Given the description of an element on the screen output the (x, y) to click on. 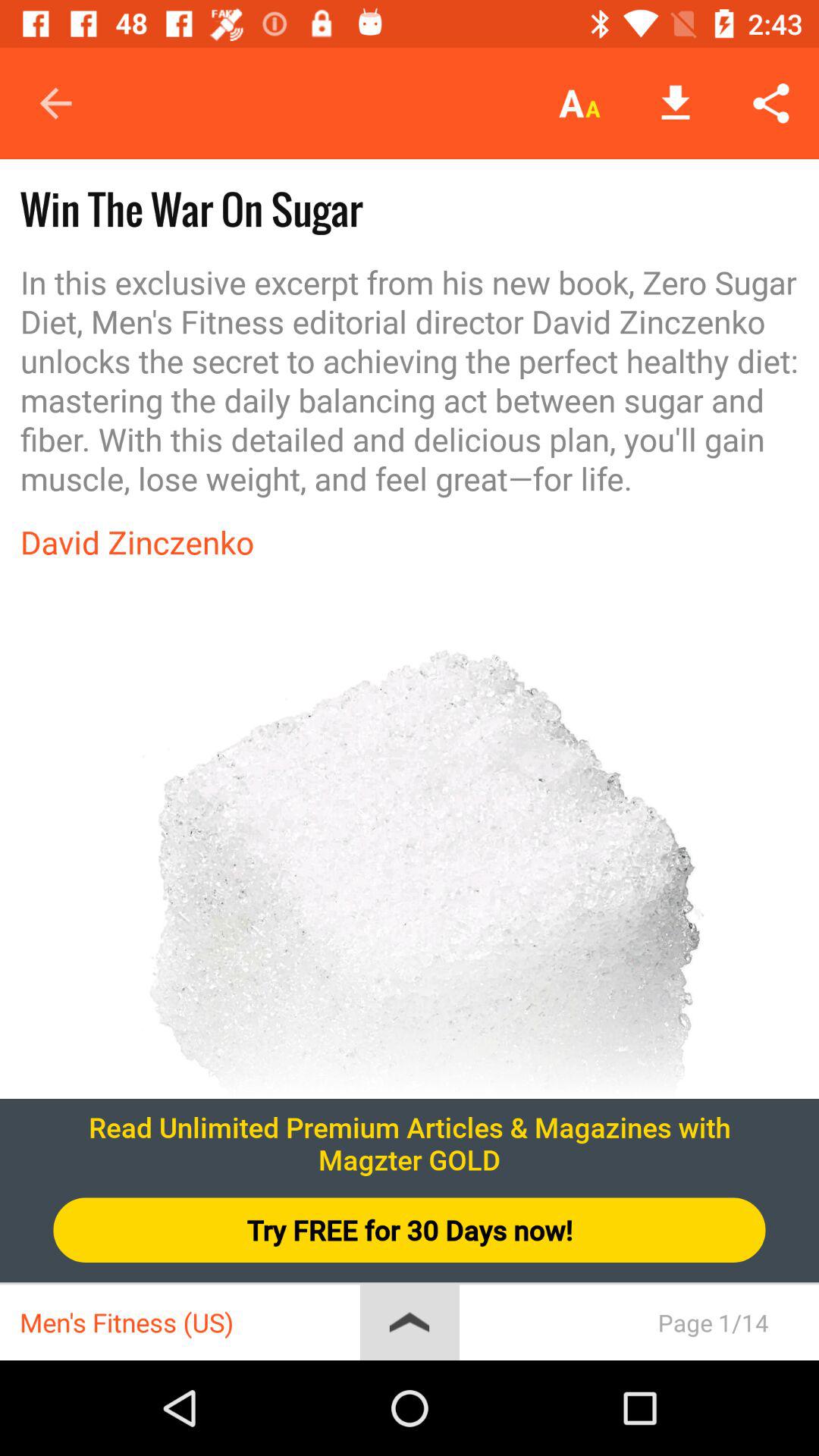
choose the icon above in this exclusive item (771, 103)
